Given the description of an element on the screen output the (x, y) to click on. 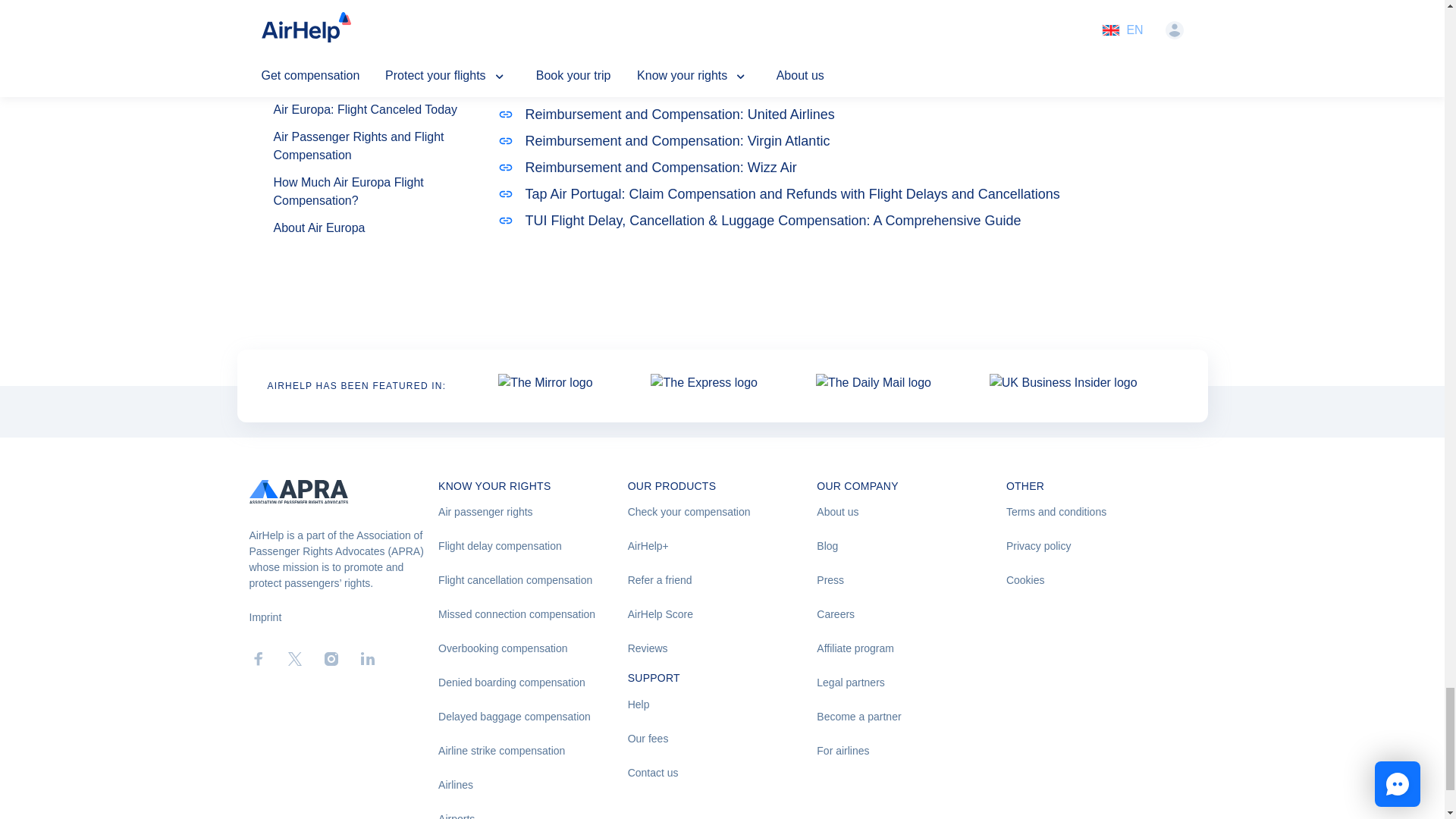
SocialInstagram (330, 659)
Airline strike compensation (532, 750)
Imprint (264, 617)
Delayed baggage compensation (532, 716)
SocialTwitter (293, 659)
Overbooking compensation (532, 648)
Flight cancellation compensation (532, 580)
Check your compensation (721, 512)
Air passenger rights (532, 512)
SocialLinkedin (366, 659)
Denied boarding compensation (532, 682)
Flight delay compensation (532, 546)
SocialFacebook (257, 659)
Missed connection compensation (532, 614)
Airlines (532, 785)
